Given the description of an element on the screen output the (x, y) to click on. 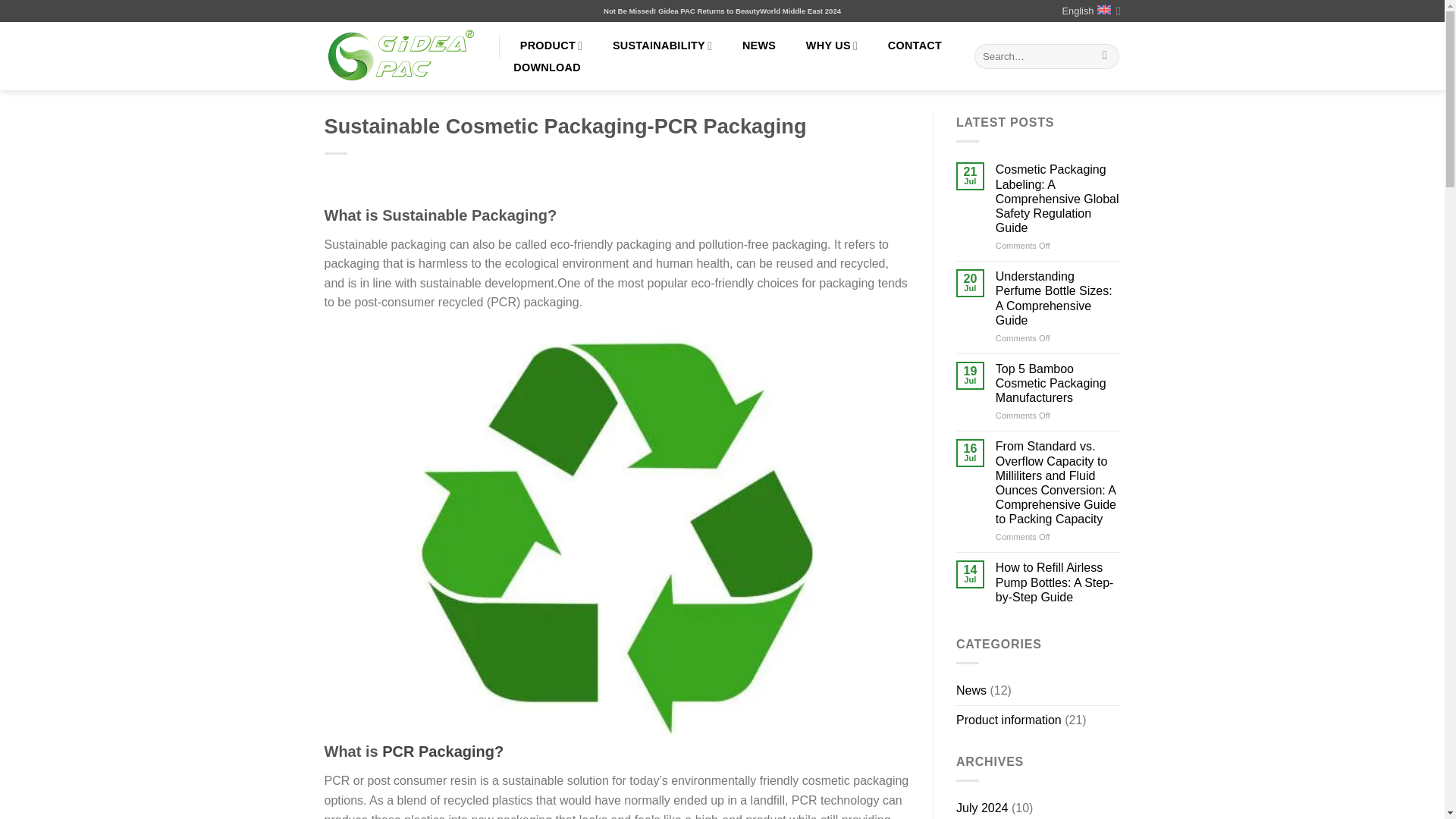
PRODUCT (551, 46)
Gidea PAC - Choose your cosmetic packaging for your brands (400, 55)
English (1090, 11)
